Given the description of an element on the screen output the (x, y) to click on. 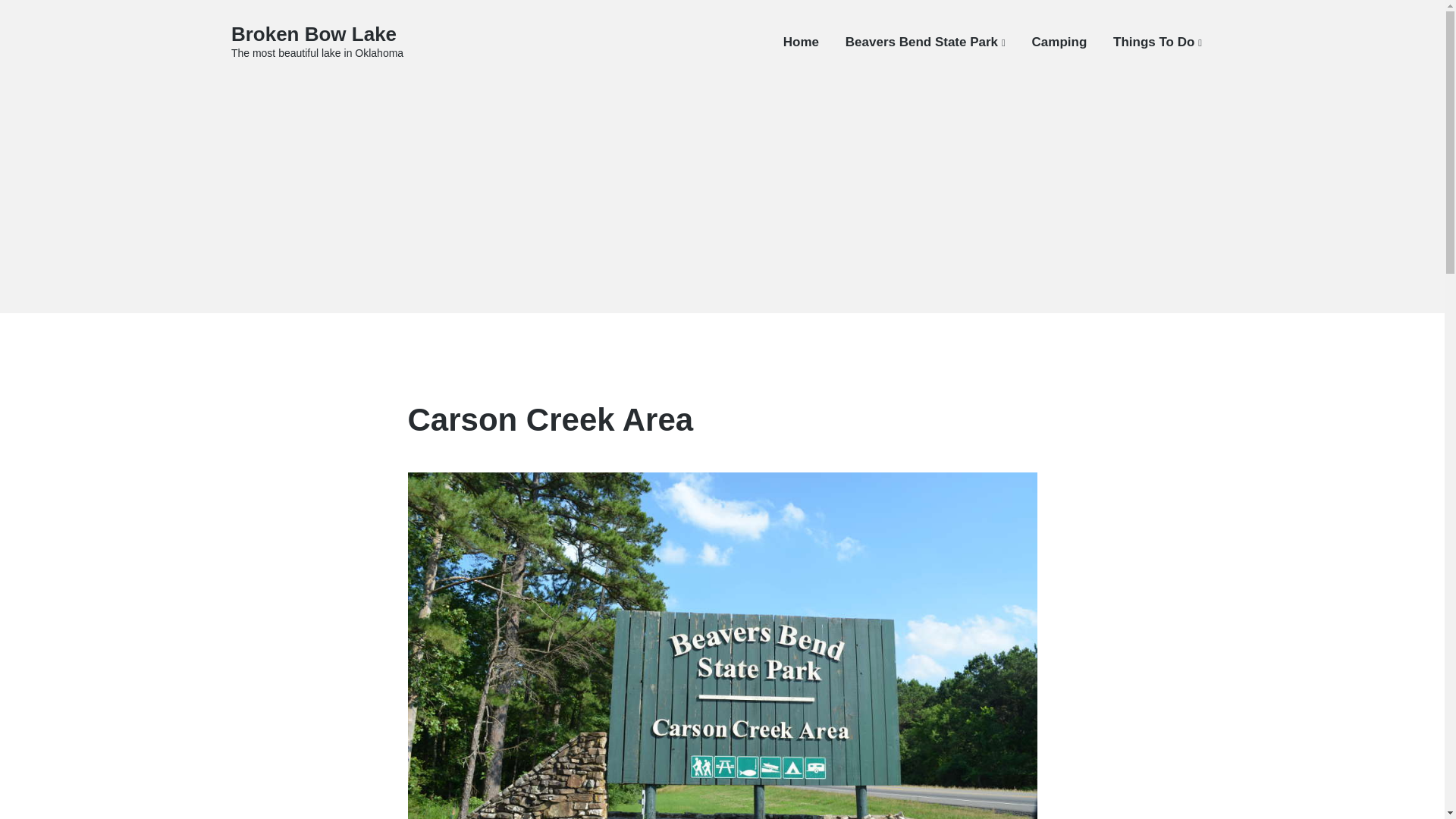
Home (800, 42)
Broken Bow Lake (313, 33)
Beavers Bend State Park (925, 42)
Things To Do (1157, 42)
Camping (1059, 42)
